Given the description of an element on the screen output the (x, y) to click on. 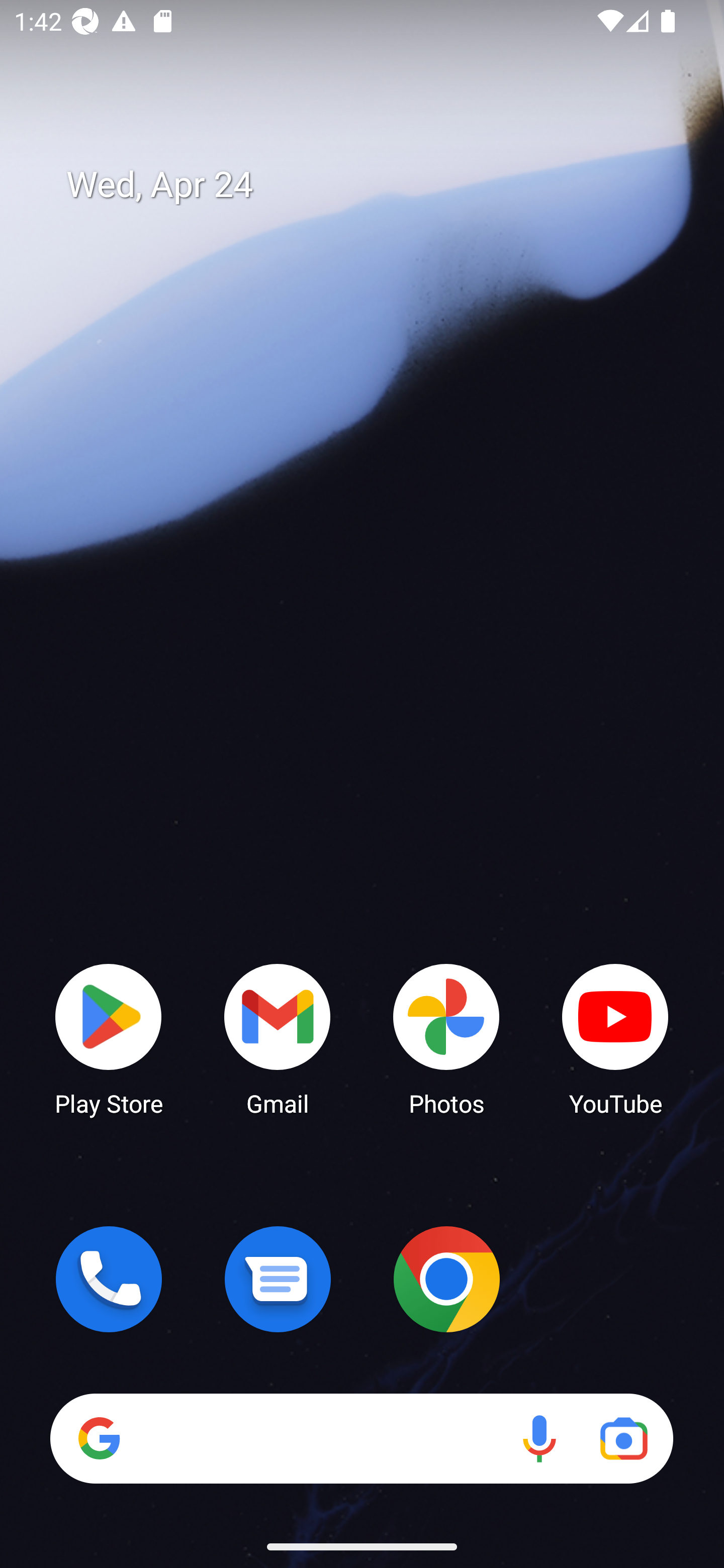
Wed, Apr 24 (375, 184)
Play Store (108, 1038)
Gmail (277, 1038)
Photos (445, 1038)
YouTube (615, 1038)
Phone (108, 1279)
Messages (277, 1279)
Chrome (446, 1279)
Search Voice search Google Lens (361, 1438)
Voice search (539, 1438)
Google Lens (623, 1438)
